Given the description of an element on the screen output the (x, y) to click on. 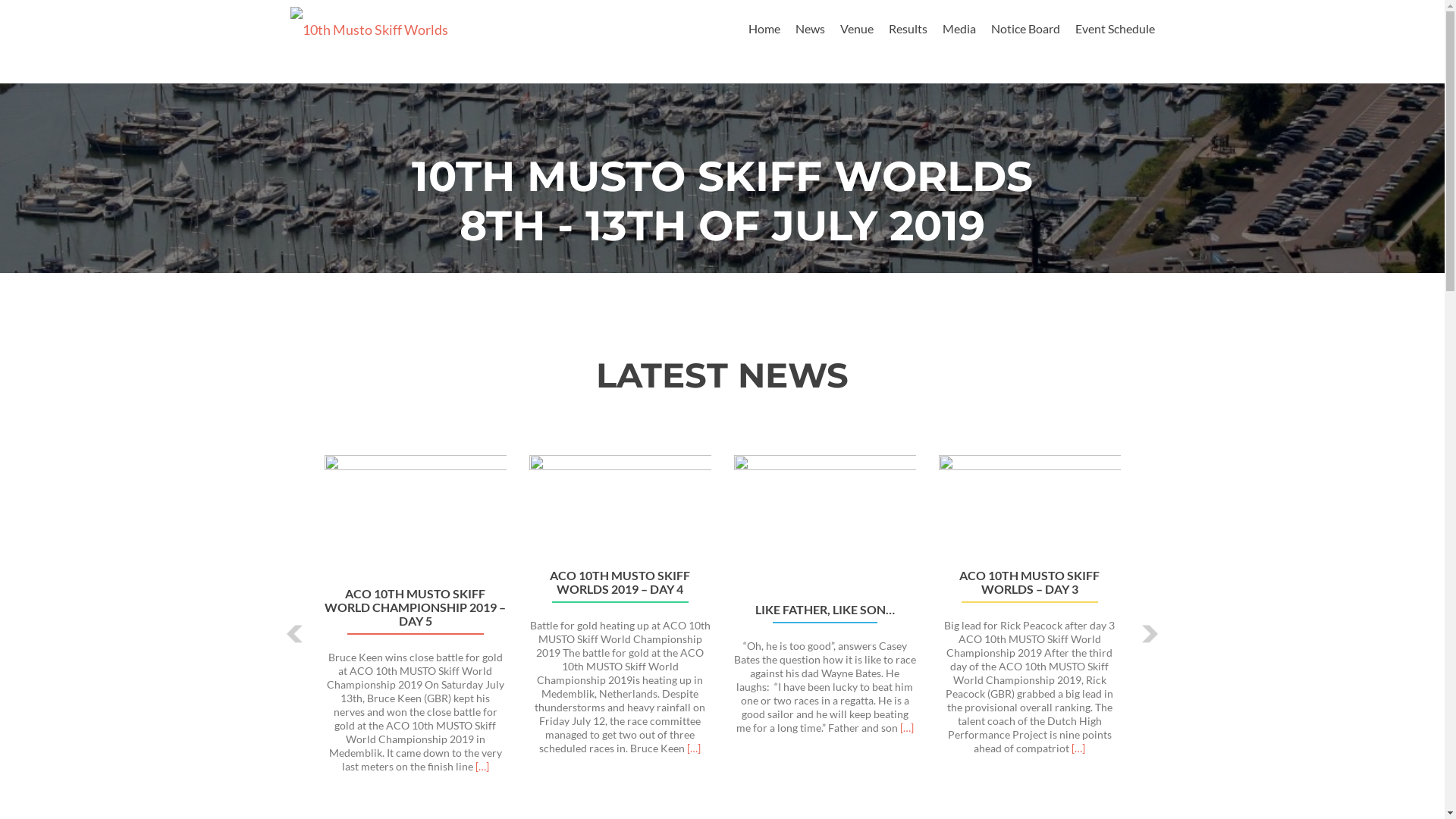
Next Element type: text (1148, 633)
Skip to content Element type: text (786, 9)
News Element type: text (809, 28)
Event Schedule Element type: text (1114, 28)
Previous Element type: text (296, 633)
Venue Element type: text (856, 28)
Media Element type: text (958, 28)
Home Element type: text (763, 28)
Results Element type: text (907, 28)
Notice Board Element type: text (1024, 28)
